Given the description of an element on the screen output the (x, y) to click on. 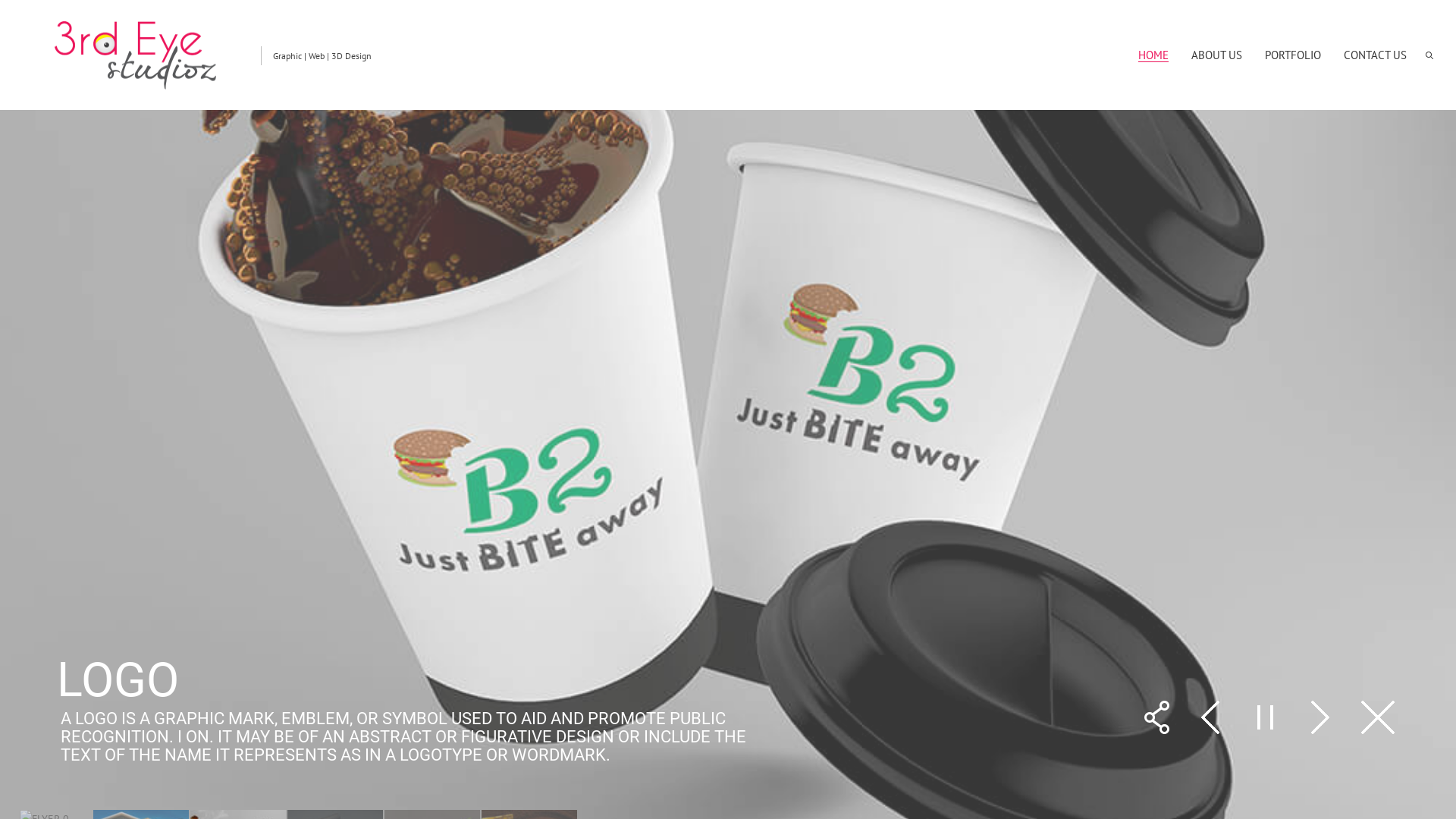
ABOUT US Element type: text (1216, 54)
PORTFOLIO Element type: text (1292, 54)
CONTACT US Element type: text (1374, 54)
HOME Element type: text (1153, 54)
